Given the description of an element on the screen output the (x, y) to click on. 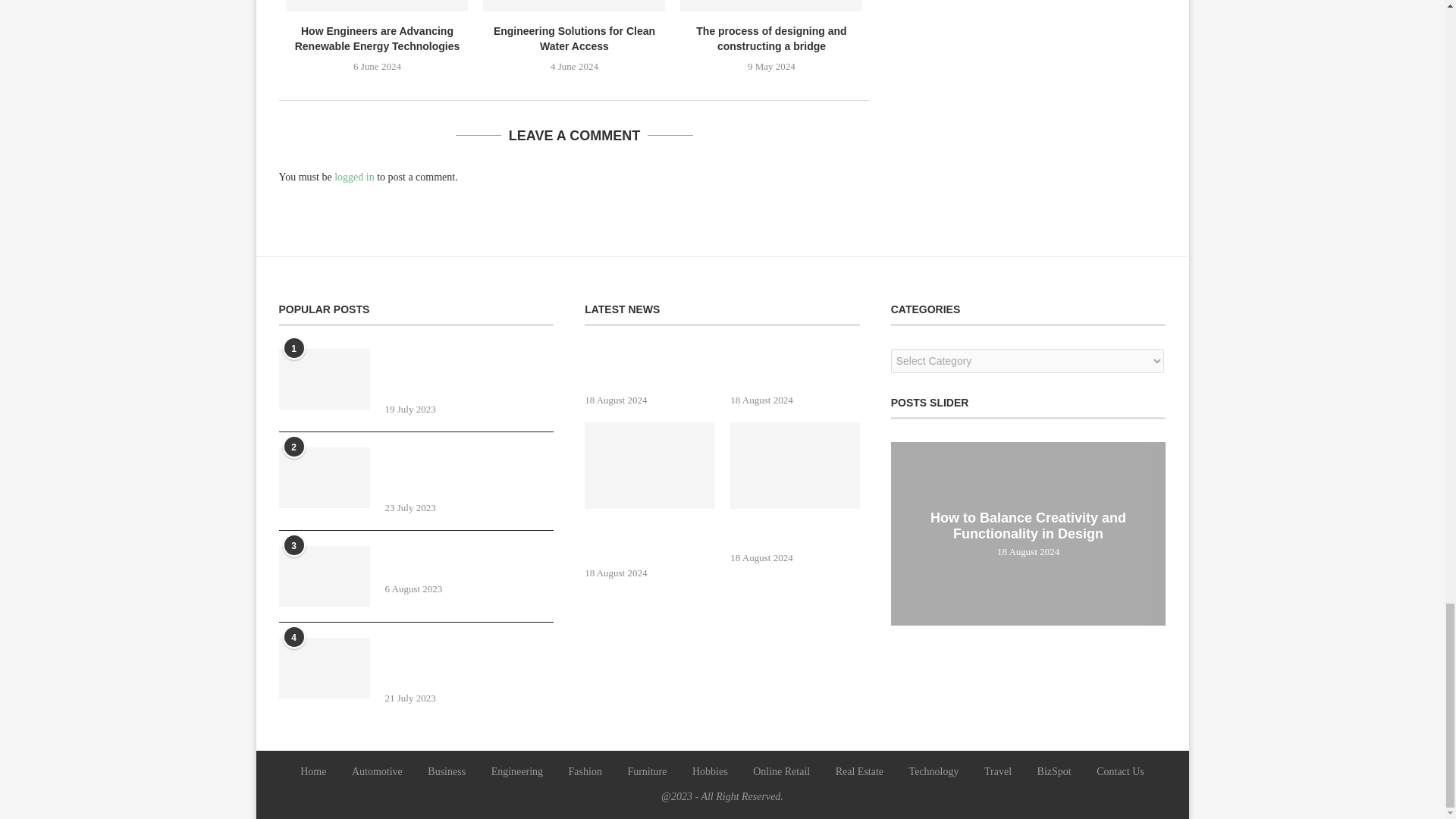
Engineering Solutions for Clean Water Access (574, 5)
The process of designing and constructing a bridge (770, 5)
How Engineers are Advancing Renewable Energy Technologies (377, 5)
